Given the description of an element on the screen output the (x, y) to click on. 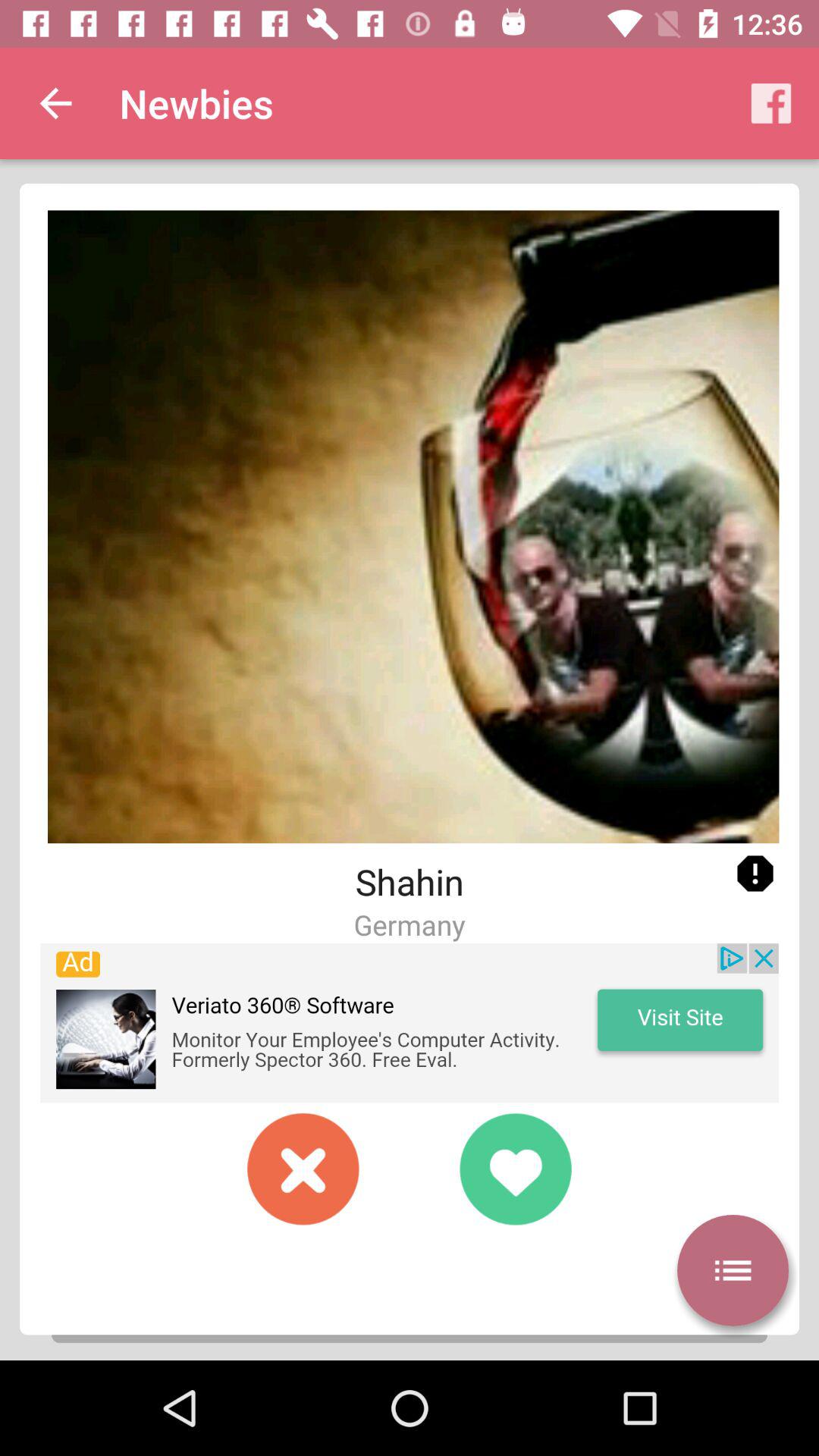
open menu option (733, 1270)
